Given the description of an element on the screen output the (x, y) to click on. 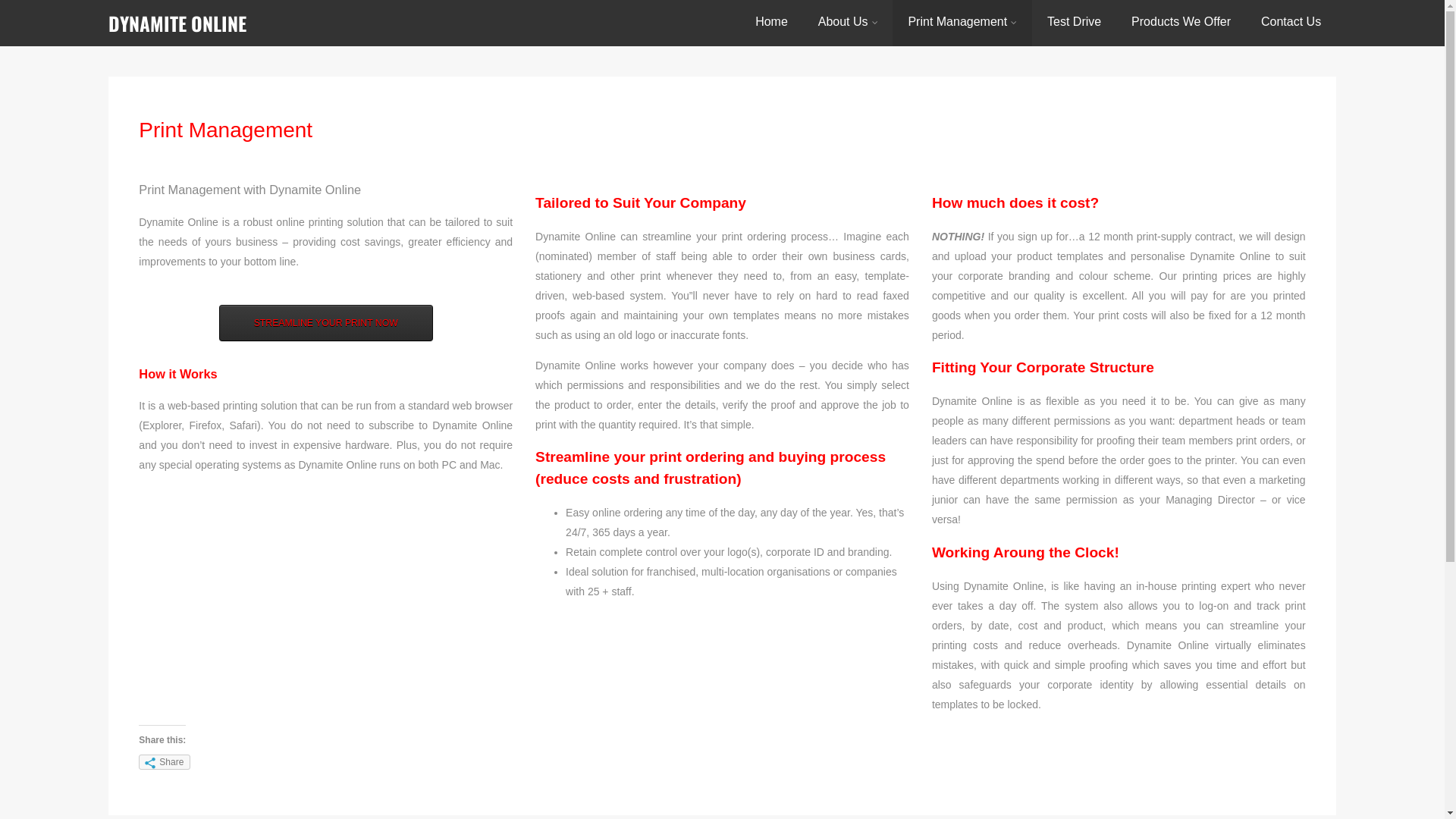
Print Management Element type: text (961, 21)
Contact Us Element type: text (1291, 21)
About Us Element type: text (848, 21)
Home Element type: text (771, 21)
Products We Offer Element type: text (1180, 21)
Test Drive Element type: text (1074, 21)
STREAMLINE YOUR PRINT NOW Element type: text (326, 322)
DYNAMITE ONLINE Element type: text (177, 23)
Share Element type: text (164, 761)
